Given the description of an element on the screen output the (x, y) to click on. 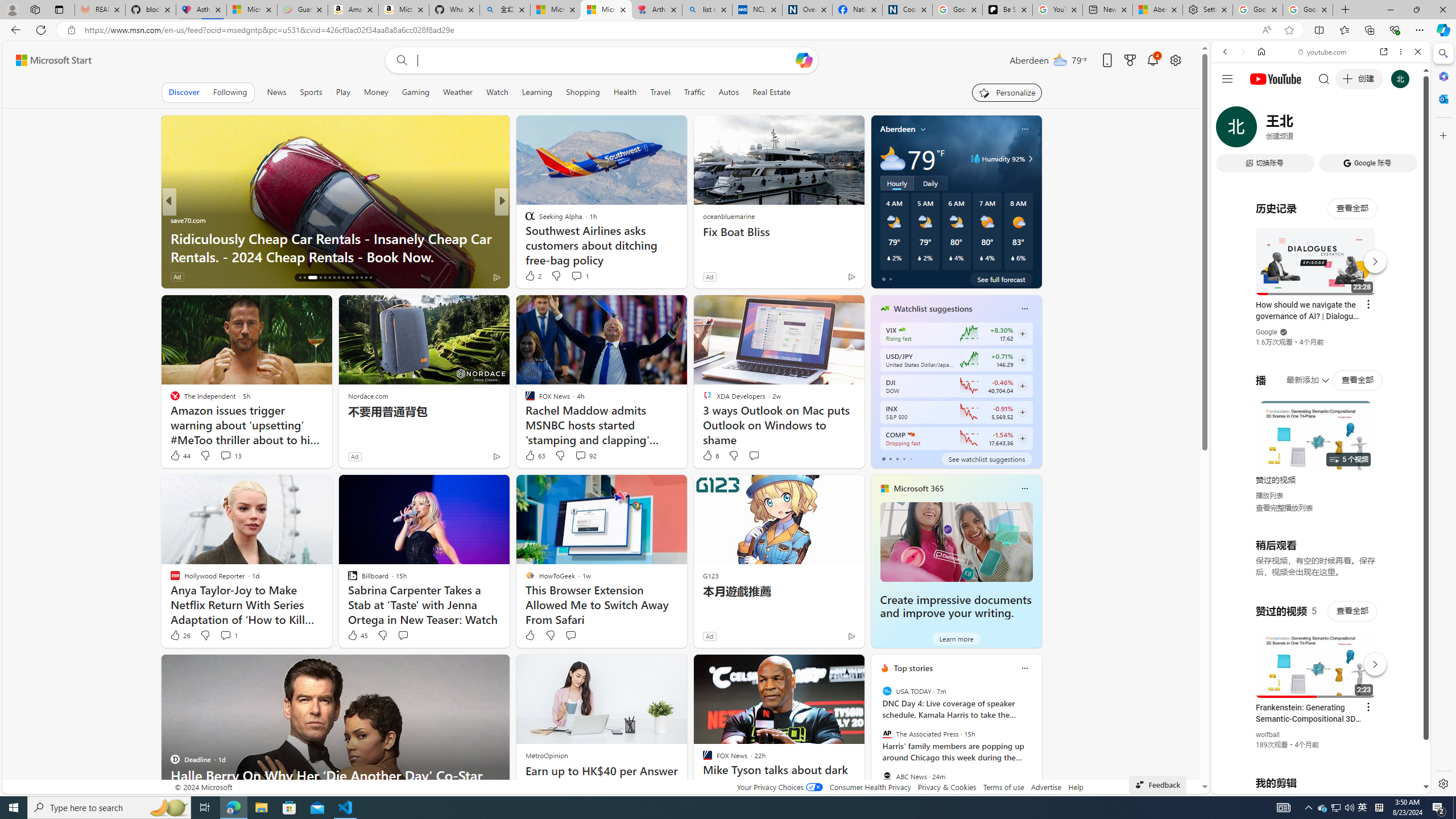
tab-3 (903, 458)
Allrecipes (524, 219)
Nordace.com (367, 395)
AutomationID: tab-30 (370, 277)
View comments 1 Comment (228, 634)
Mostly cloudy (892, 158)
Help (1075, 786)
Click to scroll right (1407, 456)
Complicated app settings are a threat to user privacy (684, 256)
View comments 25 Comment (582, 276)
Music (1320, 309)
